Given the description of an element on the screen output the (x, y) to click on. 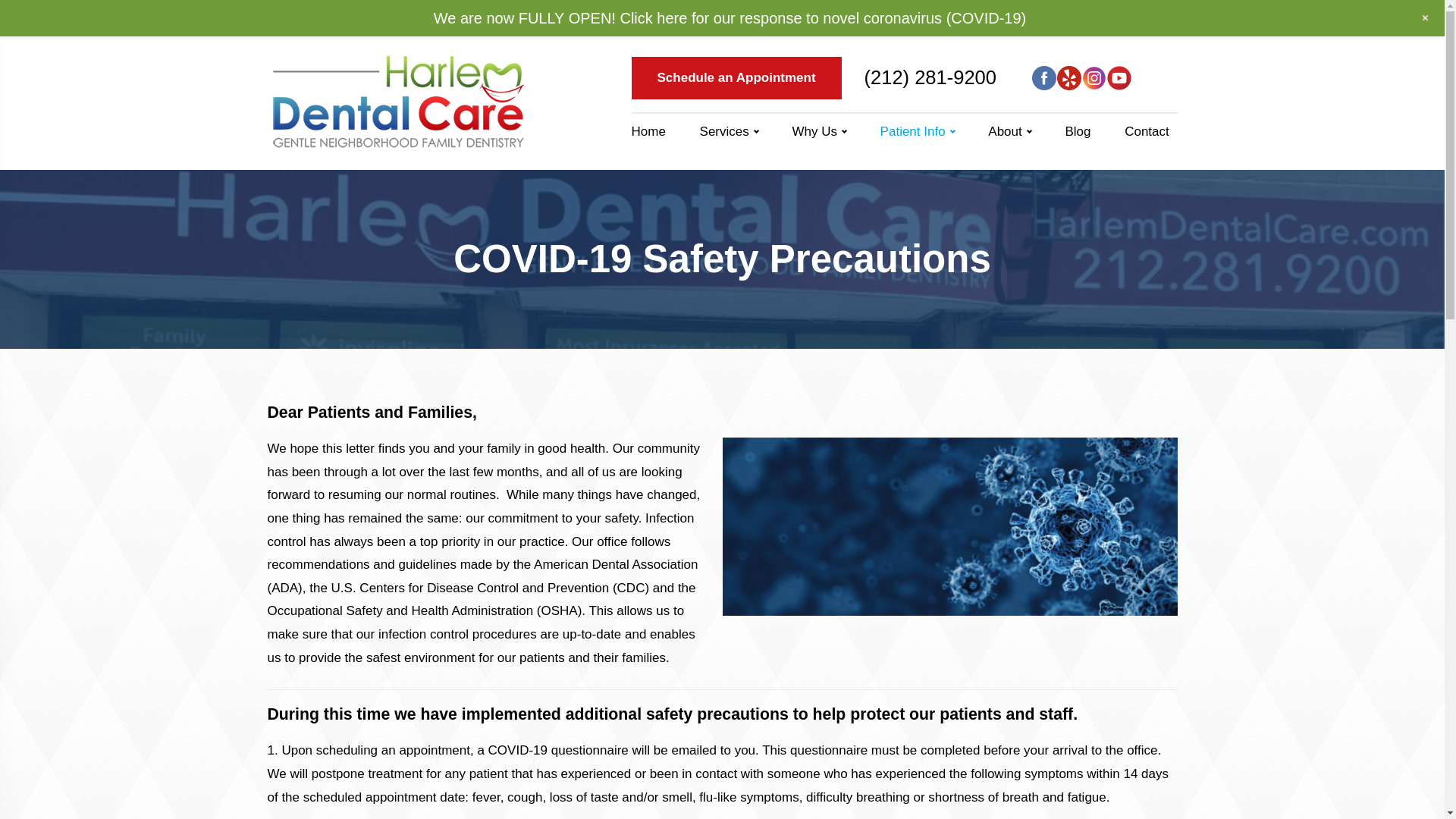
Like us on Facebook (1044, 78)
Schedule an Appointment (735, 77)
Home (654, 131)
Find us on Yelp (1069, 78)
Watch us on YouTube (1118, 78)
Follow us on Instagram (1093, 78)
Patient Info (30, 18)
